Given the description of an element on the screen output the (x, y) to click on. 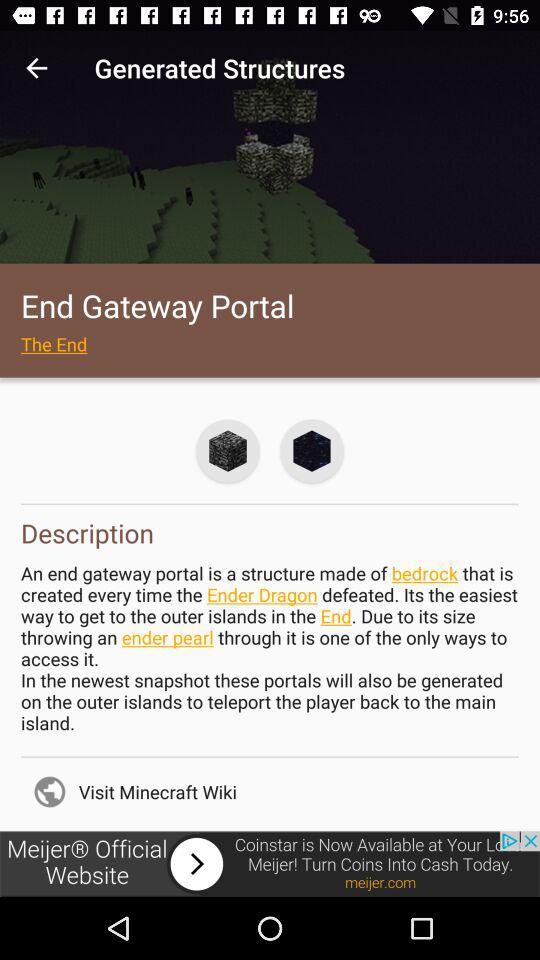
share the article (270, 864)
